Given the description of an element on the screen output the (x, y) to click on. 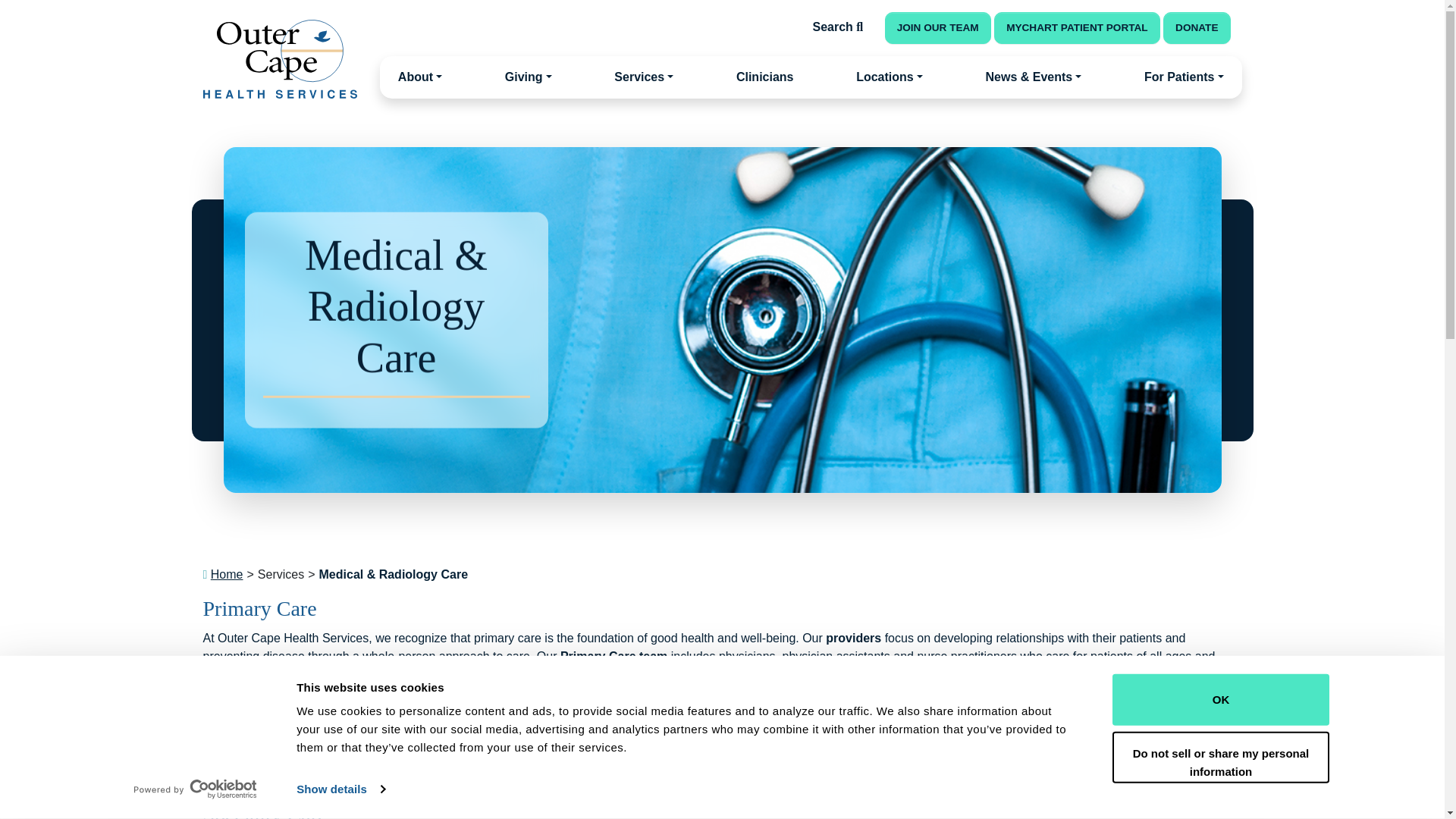
DONATE (1196, 28)
OK (1219, 699)
Do not sell or share my personal information (1219, 756)
About (419, 77)
Giving (528, 77)
JOIN OUR TEAM (938, 28)
About (419, 77)
Show details (340, 789)
Search (838, 26)
Services (643, 77)
MYCHART PATIENT PORTAL (1077, 28)
